Given the description of an element on the screen output the (x, y) to click on. 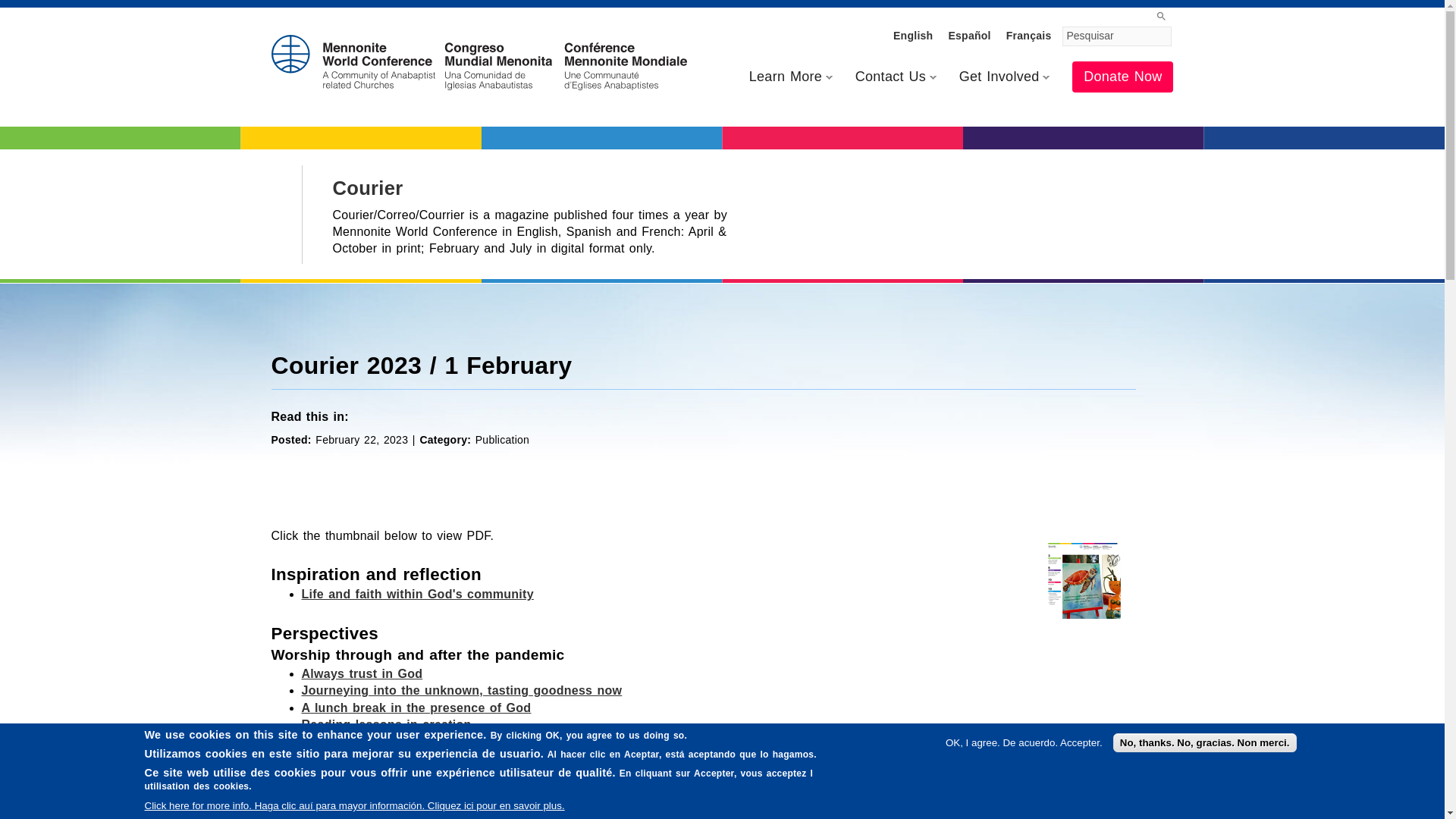
Introduza os termos pelos quais pretende pesquisar. (1117, 35)
Pesquisar (1117, 35)
Pesquisar (1117, 35)
English (913, 35)
